Given the description of an element on the screen output the (x, y) to click on. 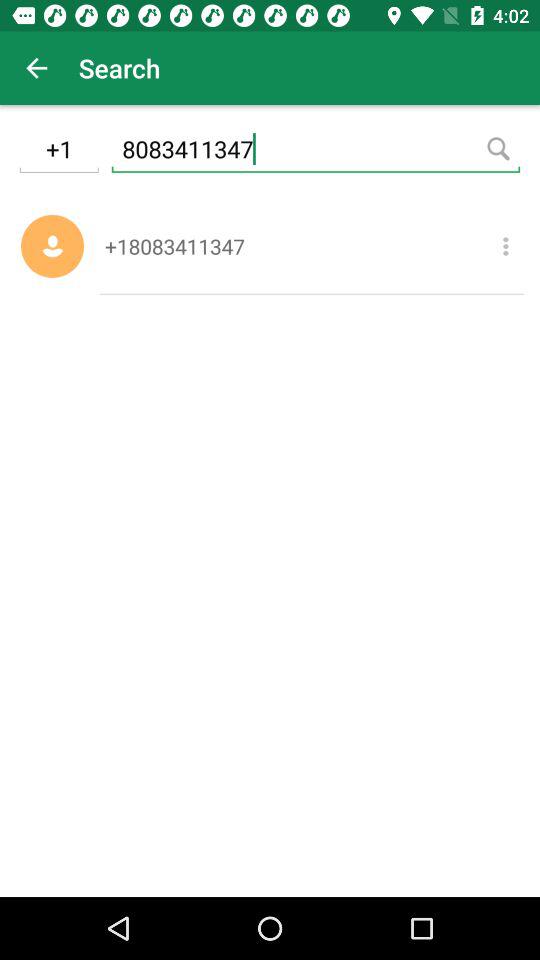
click item to the right of +1 icon (315, 151)
